Given the description of an element on the screen output the (x, y) to click on. 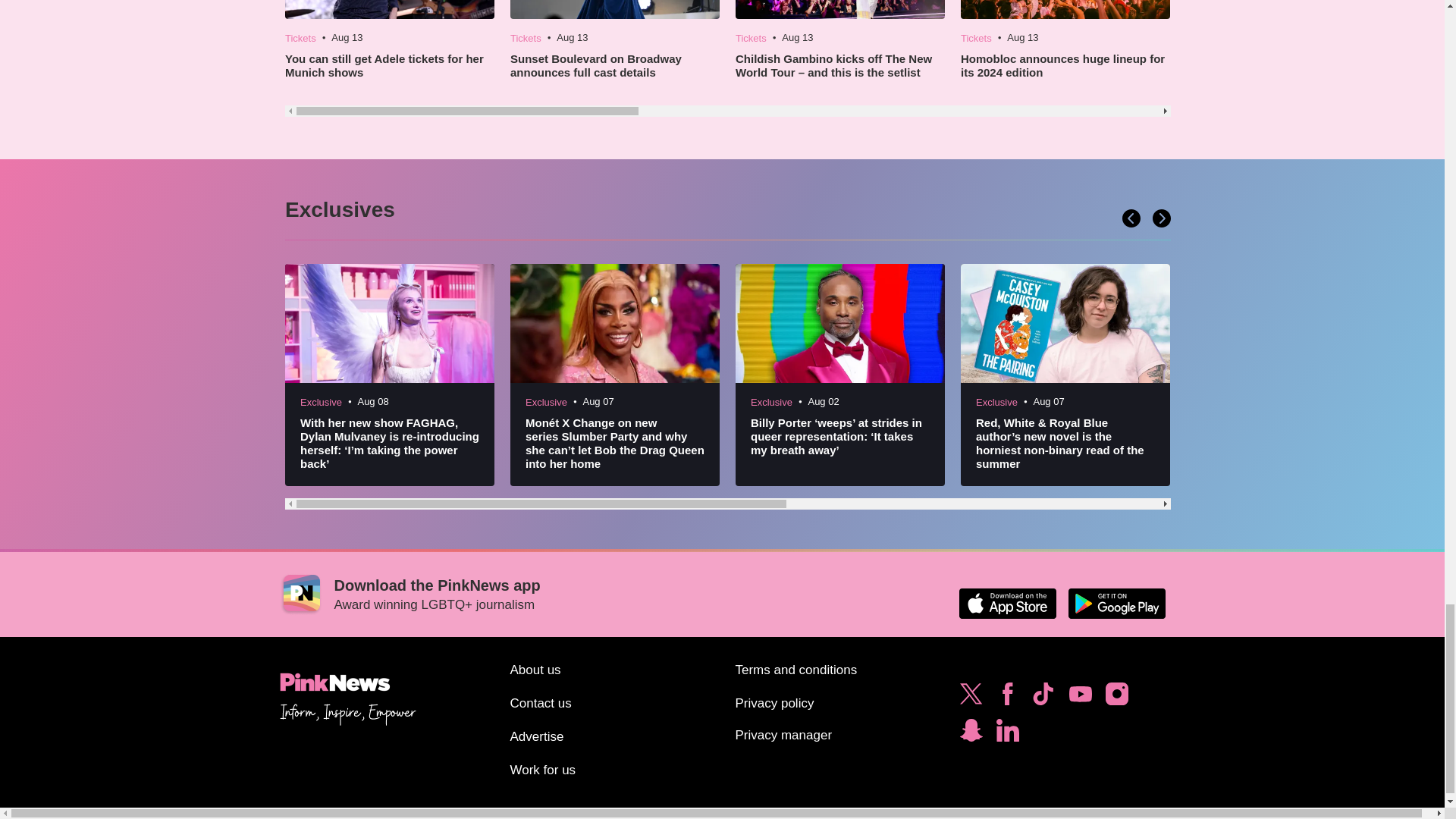
Subscribe to PinkNews on YouTube (1079, 697)
Follow PinkNews on Twitter (970, 697)
Follow PinkNews on LinkedIn (1007, 733)
Follow PinkNews on TikTok (1042, 697)
Download the PinkNews app on the Apple App Store (1006, 603)
Follow PinkNews on Instagram (1116, 697)
Subscribe to PinkNews on Snapchat (970, 733)
Download the PinkNews app on Google Play (1115, 603)
